Given the description of an element on the screen output the (x, y) to click on. 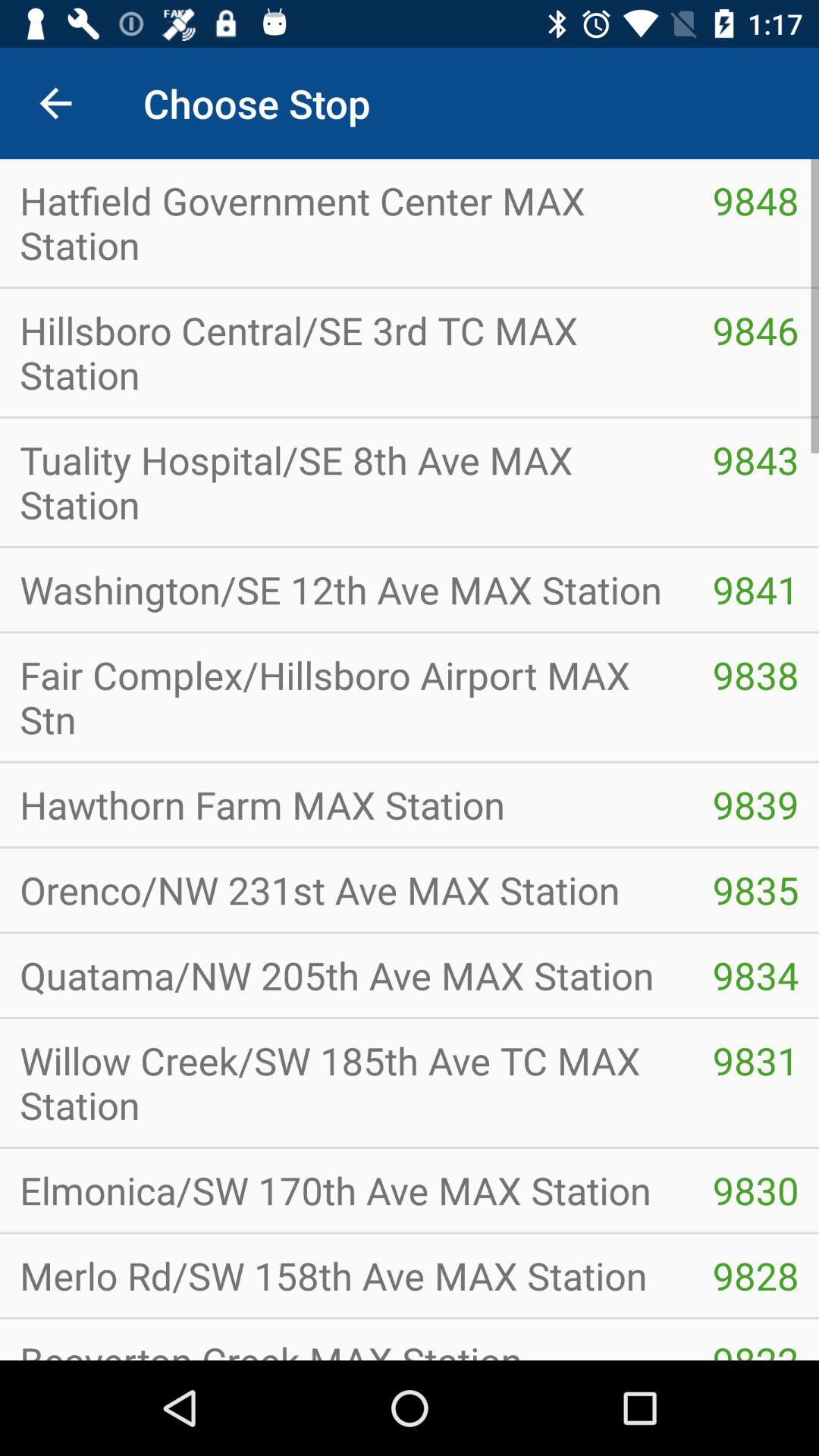
turn on item below willow creek sw item (755, 1189)
